Given the description of an element on the screen output the (x, y) to click on. 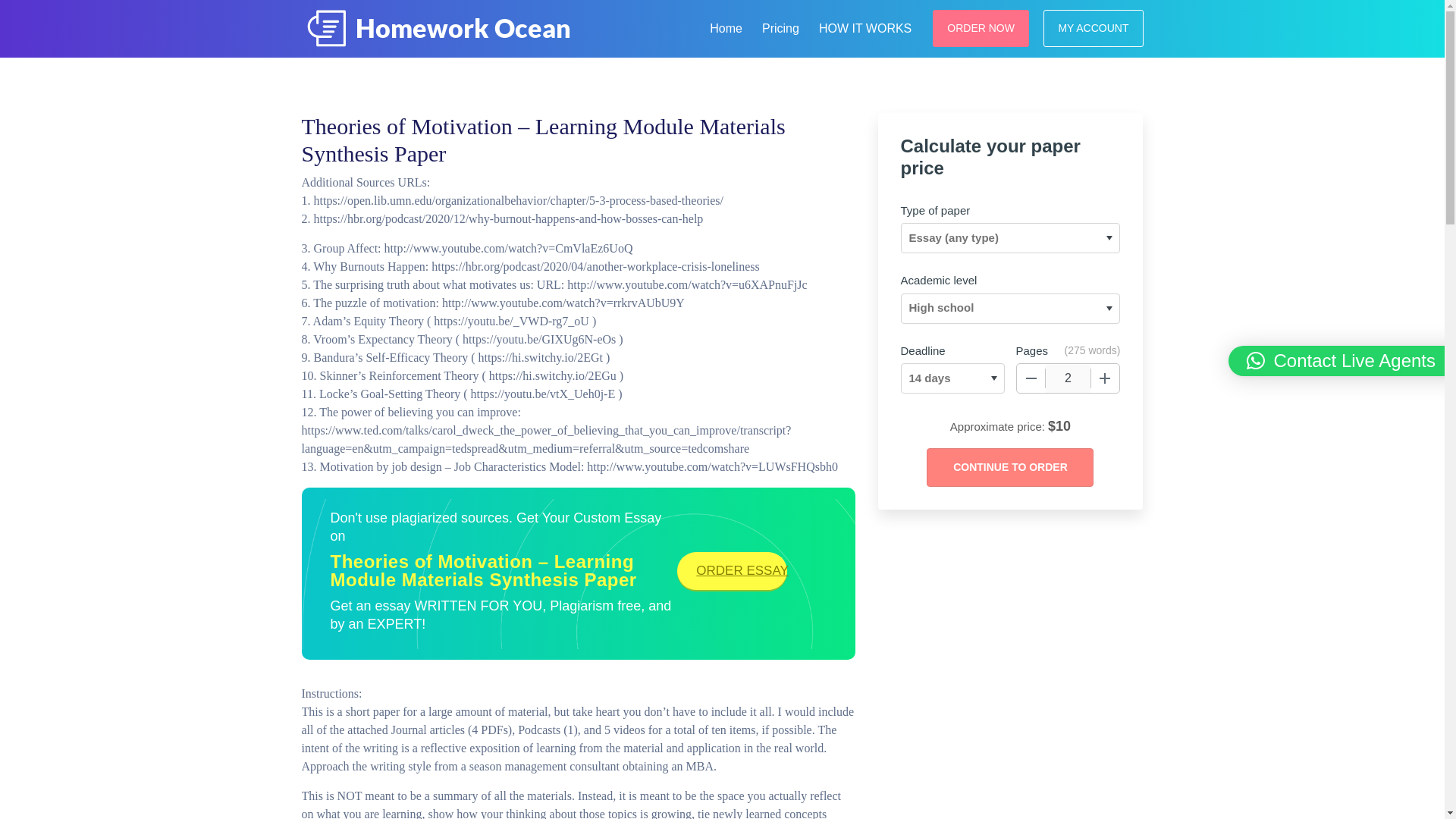
2 (1067, 378)
HOW IT WORKS (864, 26)
Pricing (780, 26)
Home (725, 26)
ORDER NOW (981, 27)
Increase (1104, 378)
Continue to order (1009, 466)
ORDER ESSAY (732, 570)
Decrease (1030, 378)
Continue to order (1009, 466)
HOW IT WORKS (864, 26)
Home (725, 26)
MY ACCOUNT (1092, 27)
Pricing (780, 26)
